Given the description of an element on the screen output the (x, y) to click on. 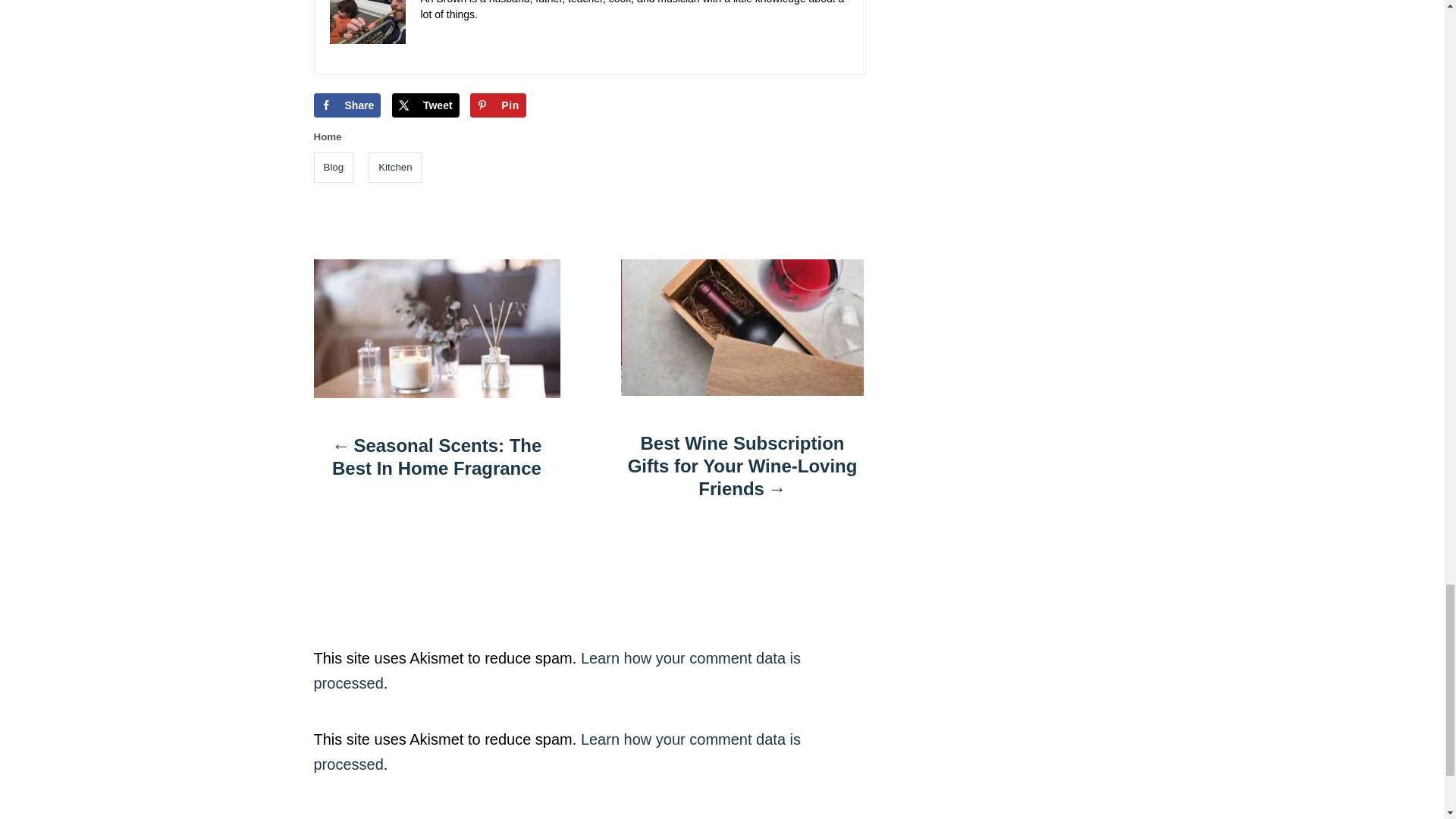
Blog (333, 167)
Save to Pinterest (497, 105)
Share (347, 105)
Share on Facebook (347, 105)
Learn how your comment data is processed (558, 752)
Pin (497, 105)
Tweet (425, 105)
Share on X (425, 105)
Home (328, 136)
Kitchen (395, 167)
